Given the description of an element on the screen output the (x, y) to click on. 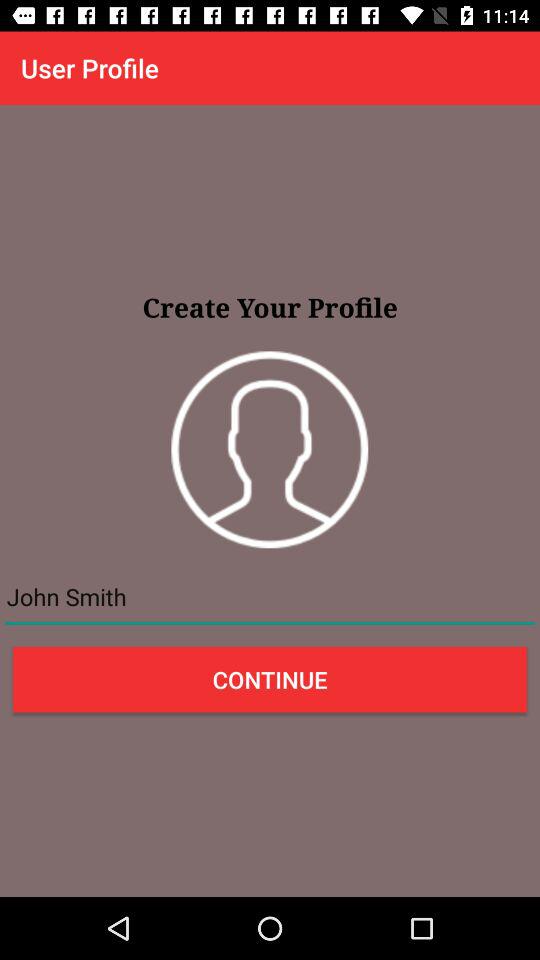
launch john smith (270, 597)
